Given the description of an element on the screen output the (x, y) to click on. 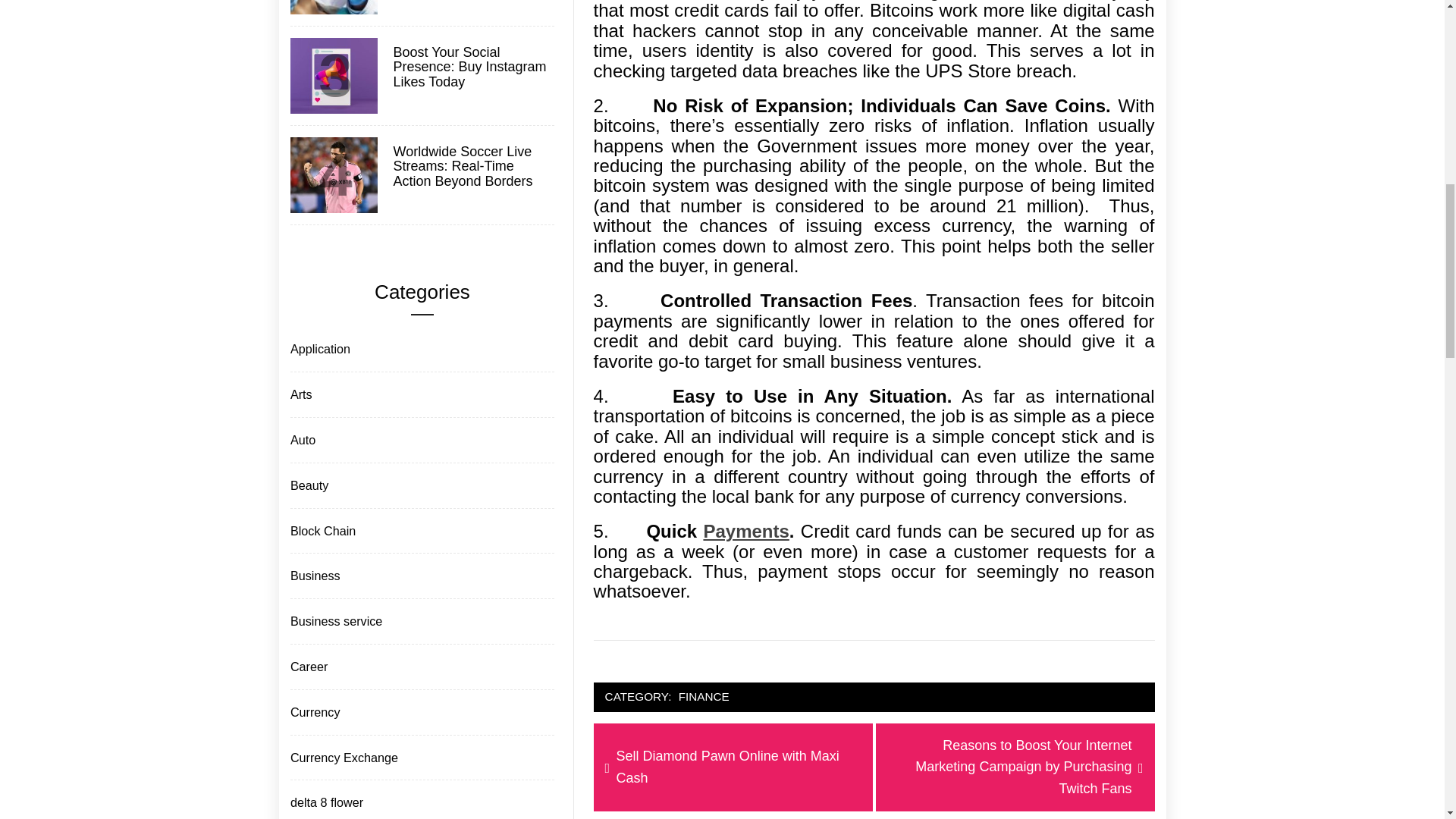
Block Chain (321, 531)
Application (318, 349)
Beauty (307, 485)
Auto (300, 440)
Payments (733, 767)
Career (746, 530)
Arts (307, 667)
Boost Your Social Presence: Buy Instagram Likes Today (299, 394)
Business service (471, 67)
Business (334, 621)
FINANCE (313, 576)
